Given the description of an element on the screen output the (x, y) to click on. 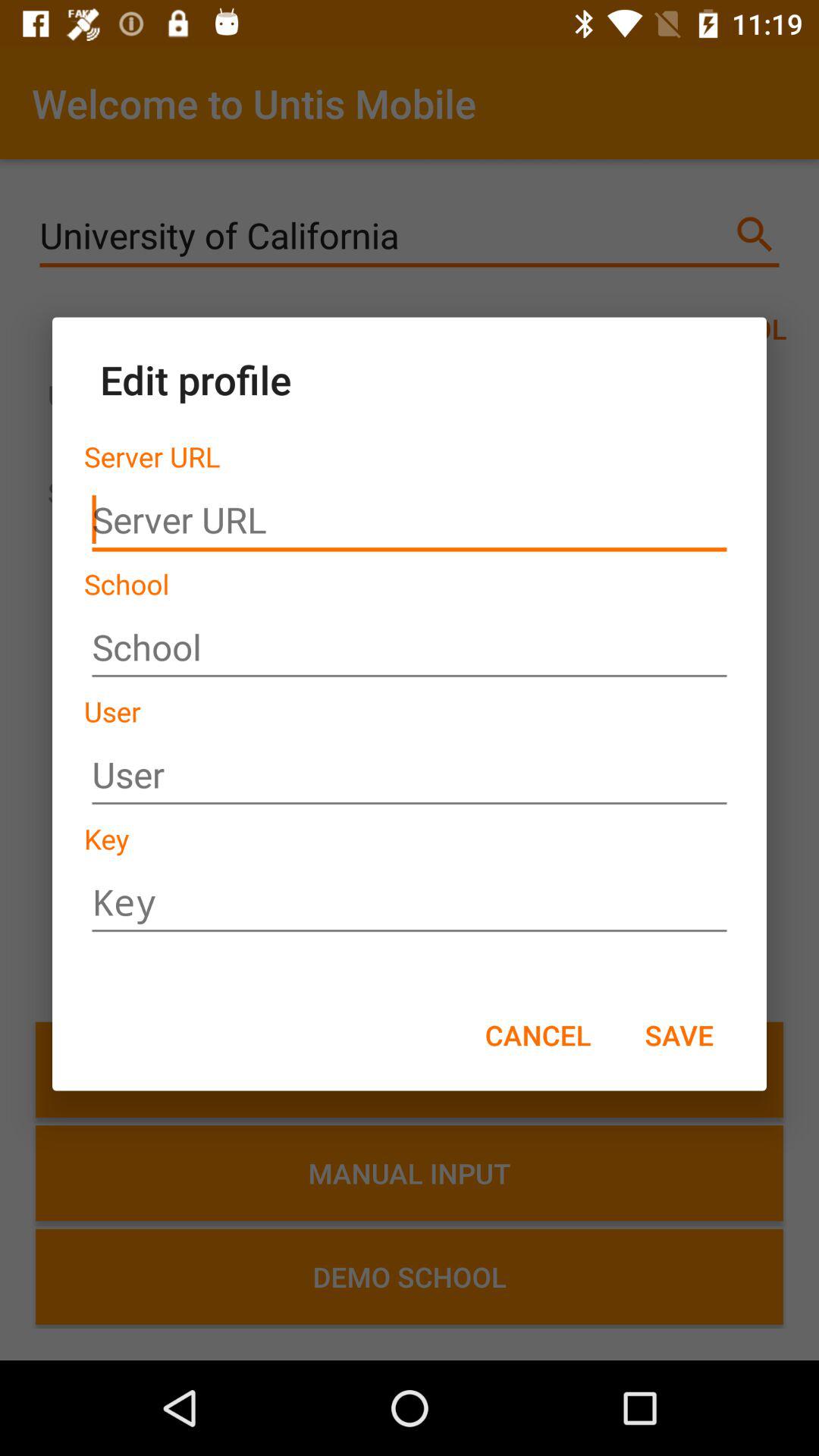
school line (409, 647)
